Given the description of an element on the screen output the (x, y) to click on. 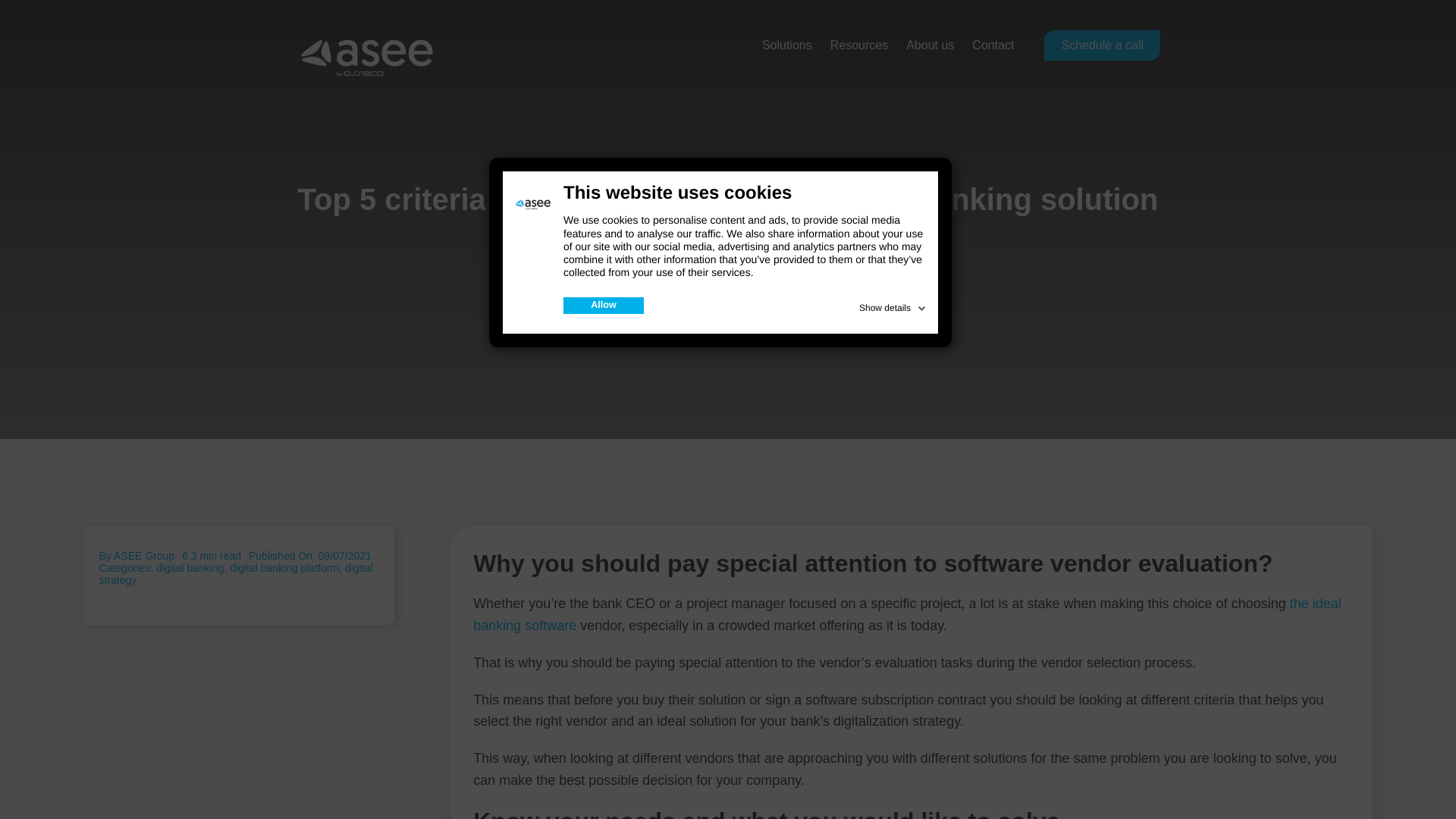
Show details (893, 305)
Allow (603, 305)
